Given the description of an element on the screen output the (x, y) to click on. 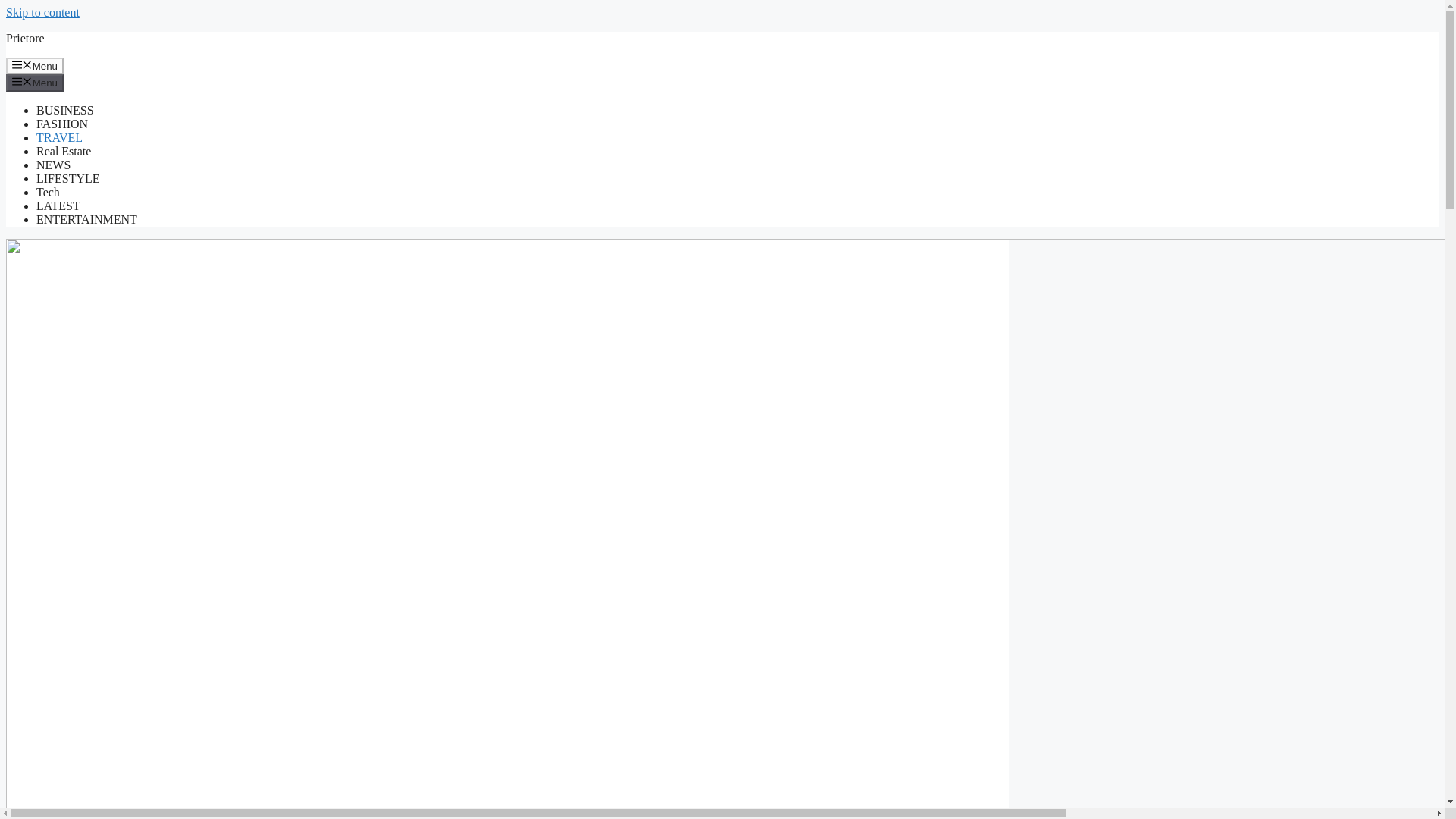
BUSINESS (65, 110)
TRAVEL (59, 137)
FASHION (61, 123)
Tech (47, 192)
Skip to content (42, 11)
Real Estate (63, 151)
Prietore (25, 38)
Menu (34, 82)
ENTERTAINMENT (86, 219)
LIFESTYLE (68, 178)
Skip to content (42, 11)
NEWS (52, 164)
LATEST (58, 205)
Menu (34, 65)
